Given the description of an element on the screen output the (x, y) to click on. 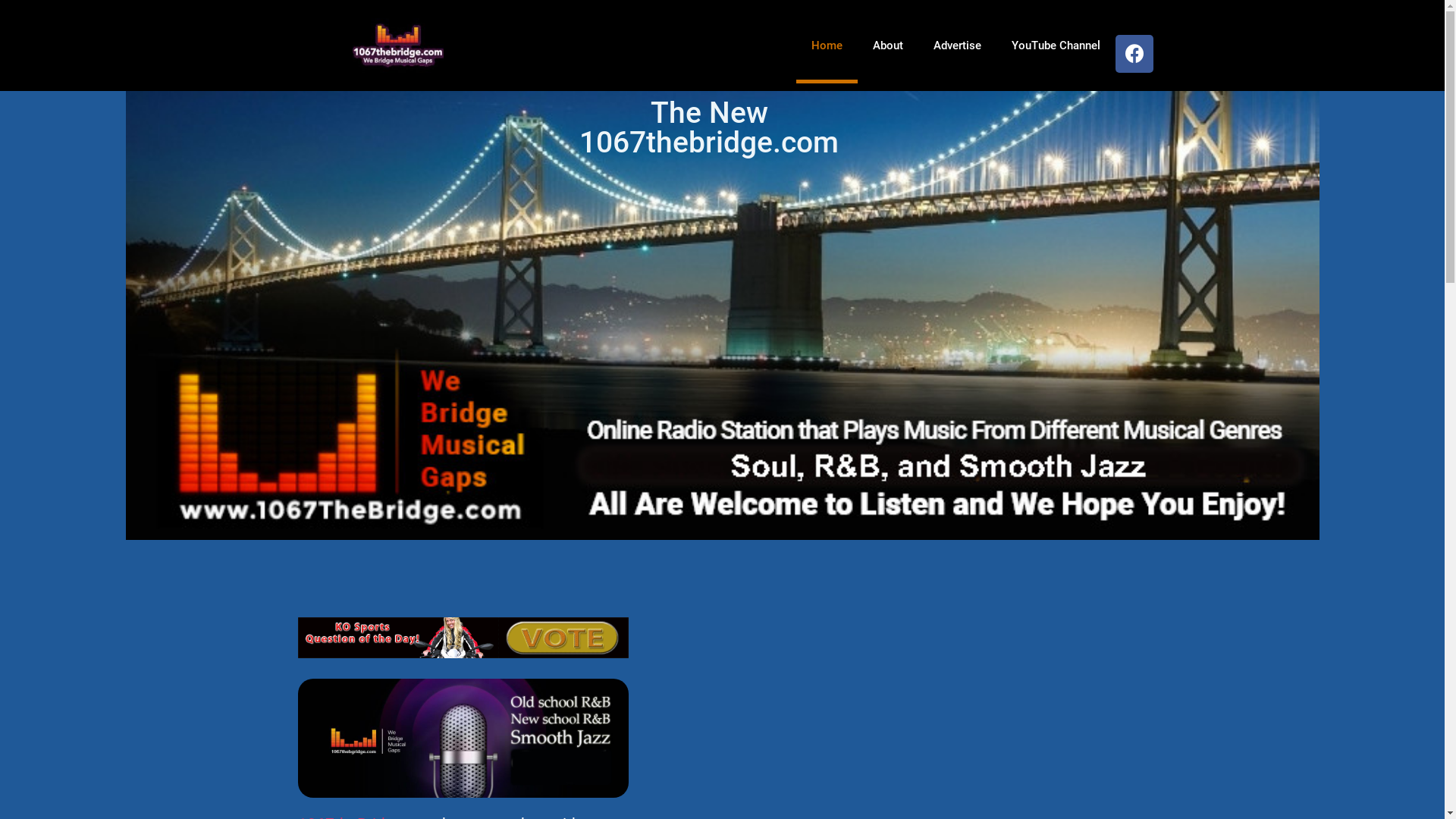
About Element type: text (886, 45)
YouTube Channel Element type: text (1055, 45)
Advertise Element type: text (956, 45)
Home Element type: text (826, 45)
